Given the description of an element on the screen output the (x, y) to click on. 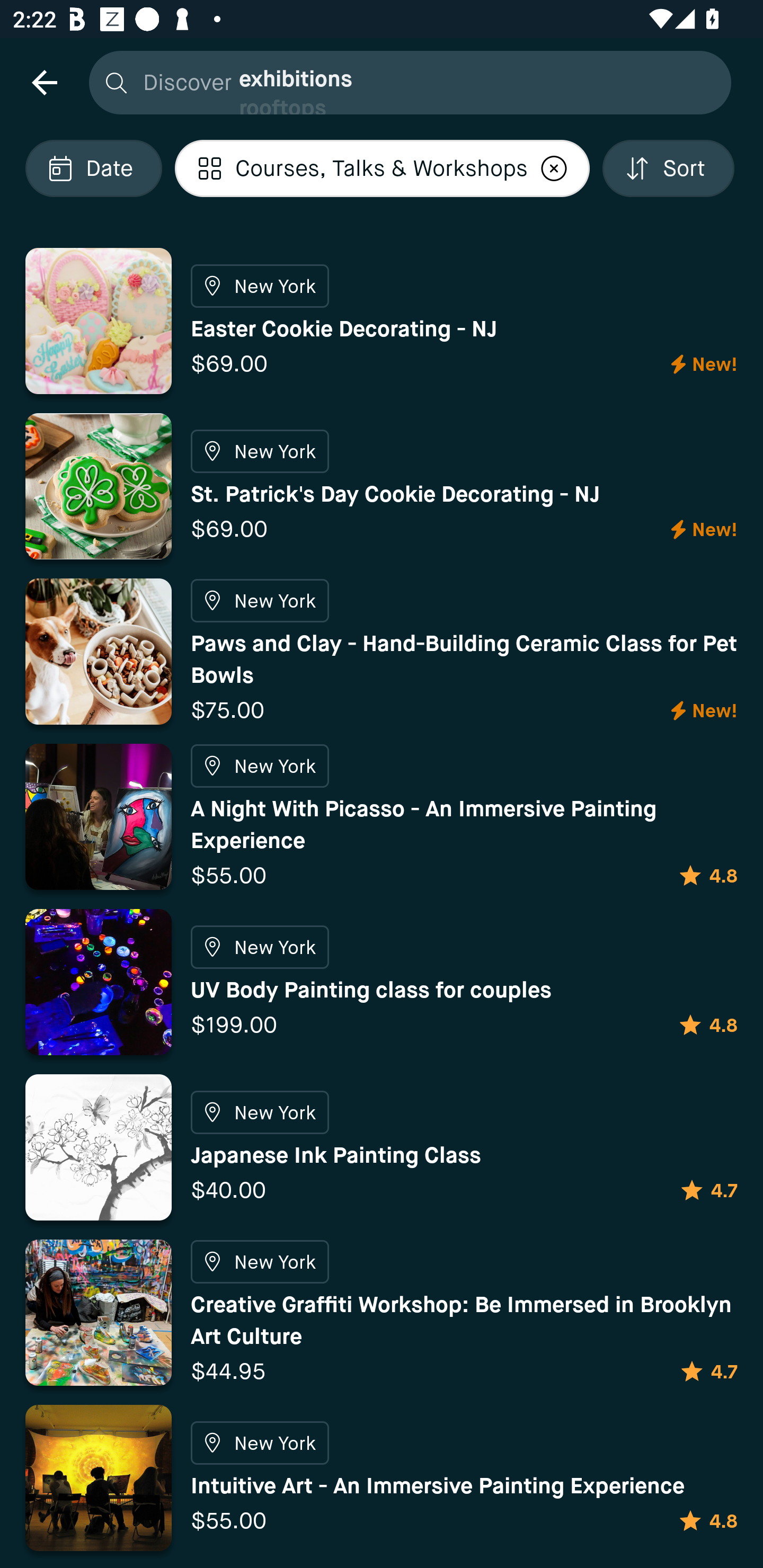
navigation icon (44, 81)
Discover exhibitions (405, 81)
Localized description Date (93, 168)
Localized description (553, 168)
Localized description Sort (668, 168)
